Given the description of an element on the screen output the (x, y) to click on. 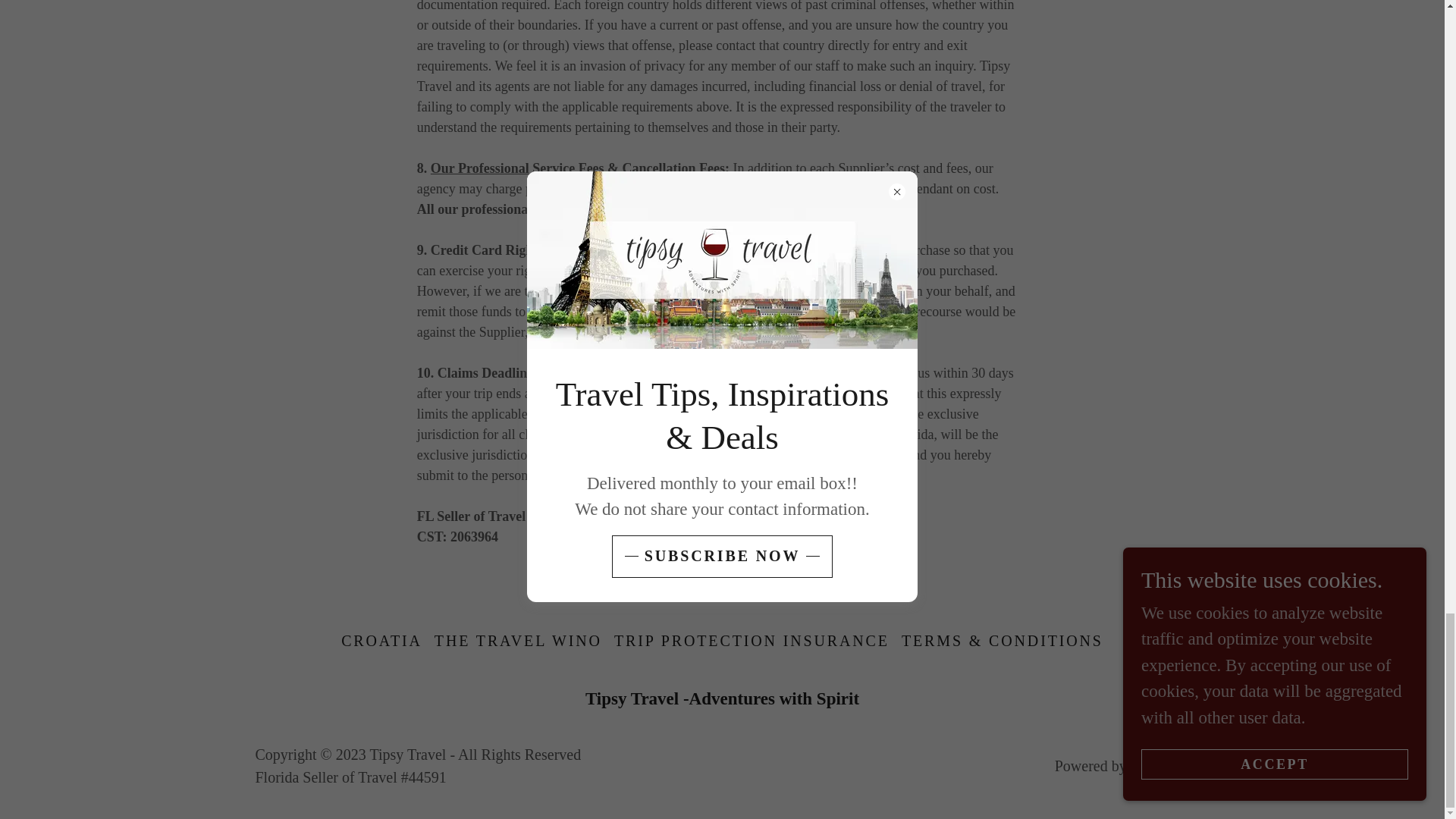
THE TRAVEL WINO (518, 641)
CROATIA (381, 641)
TRIP PROTECTION INSURANCE (751, 641)
GoDaddy (1160, 765)
